Given the description of an element on the screen output the (x, y) to click on. 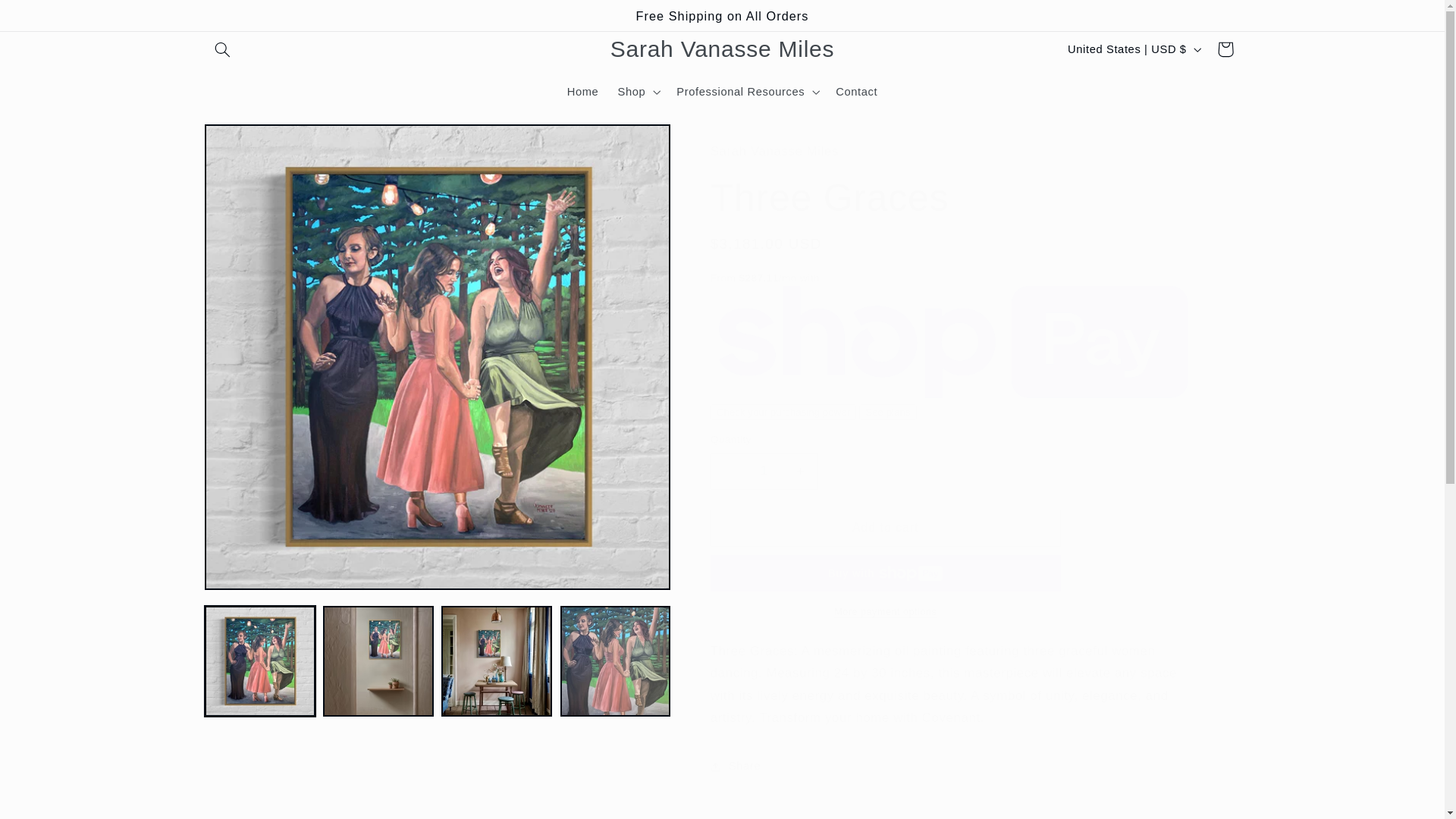
Skip to content (48, 18)
Sarah Vanasse Miles (722, 49)
1 (764, 470)
Home (582, 92)
Contact (856, 92)
